Given the description of an element on the screen output the (x, y) to click on. 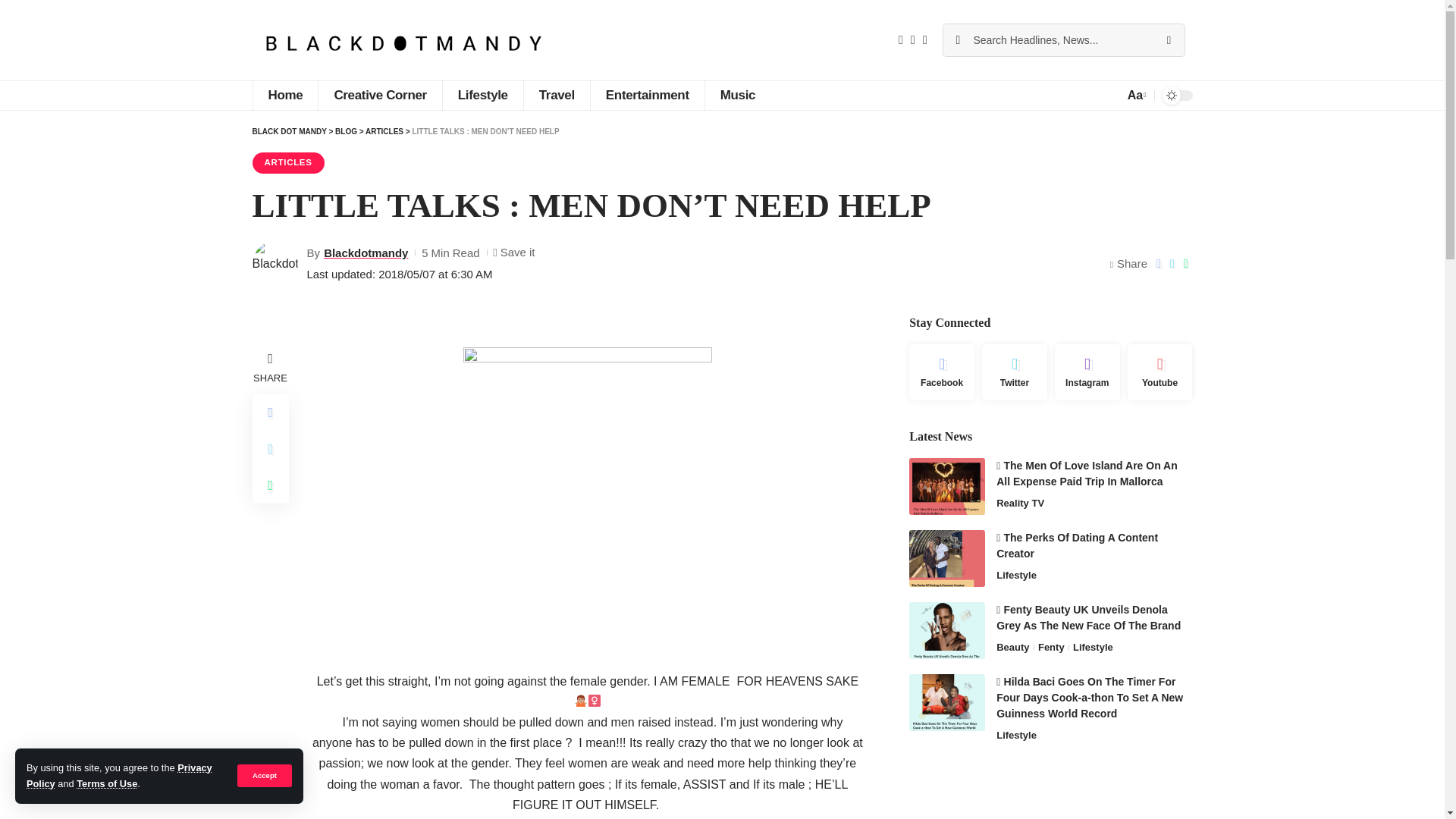
Search (1168, 40)
Terms of Use (106, 783)
Go to Blog. (345, 131)
Music (737, 95)
Go to the Articles Category archives. (384, 131)
Lifestyle (482, 95)
Home (284, 95)
Accept (264, 775)
The Perks Of Dating A Content Creator (946, 558)
Travel (555, 95)
Aa (1135, 95)
Instagram (1087, 371)
